Given the description of an element on the screen output the (x, y) to click on. 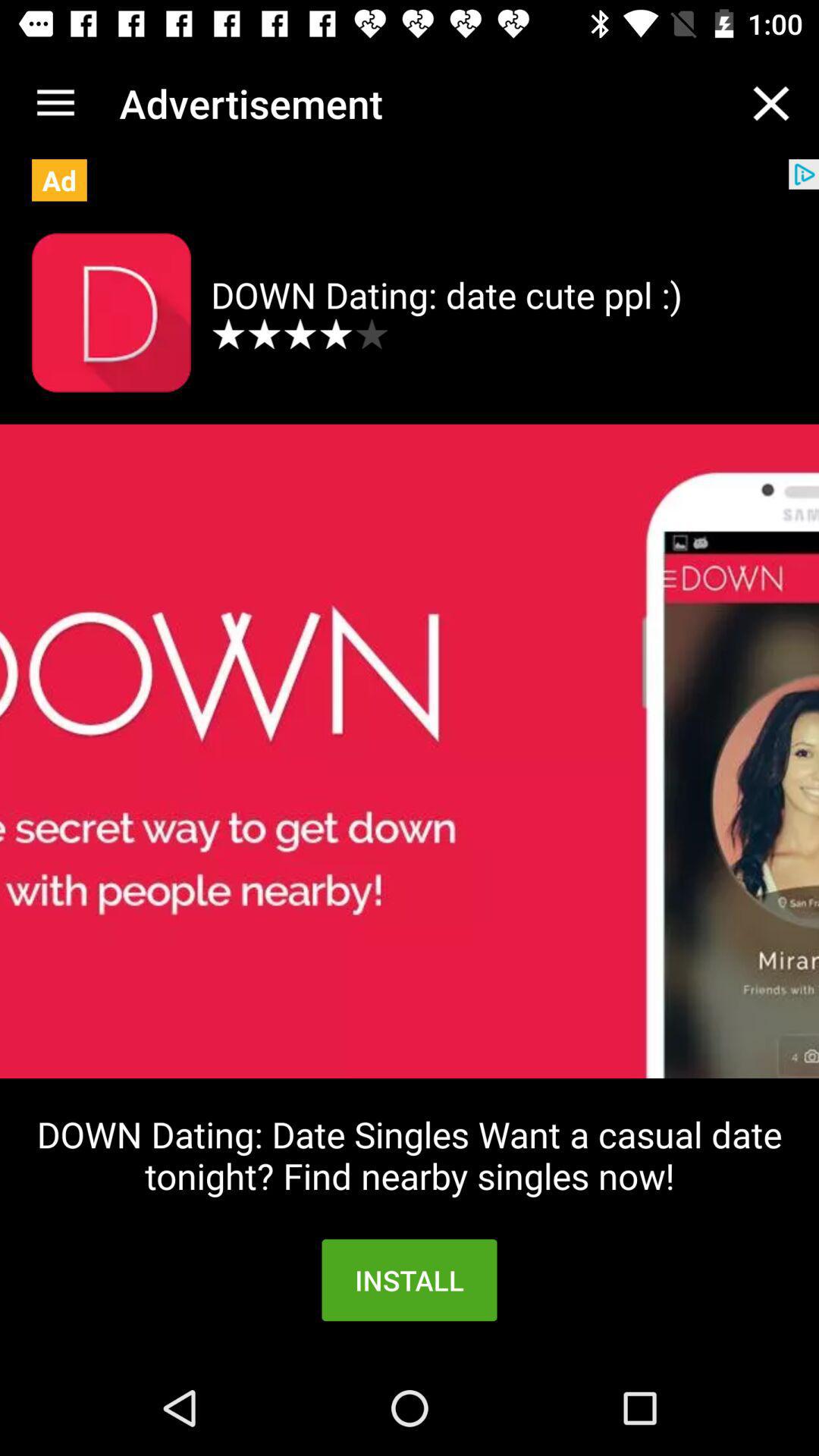
launch the item next to advertisement app (771, 103)
